Given the description of an element on the screen output the (x, y) to click on. 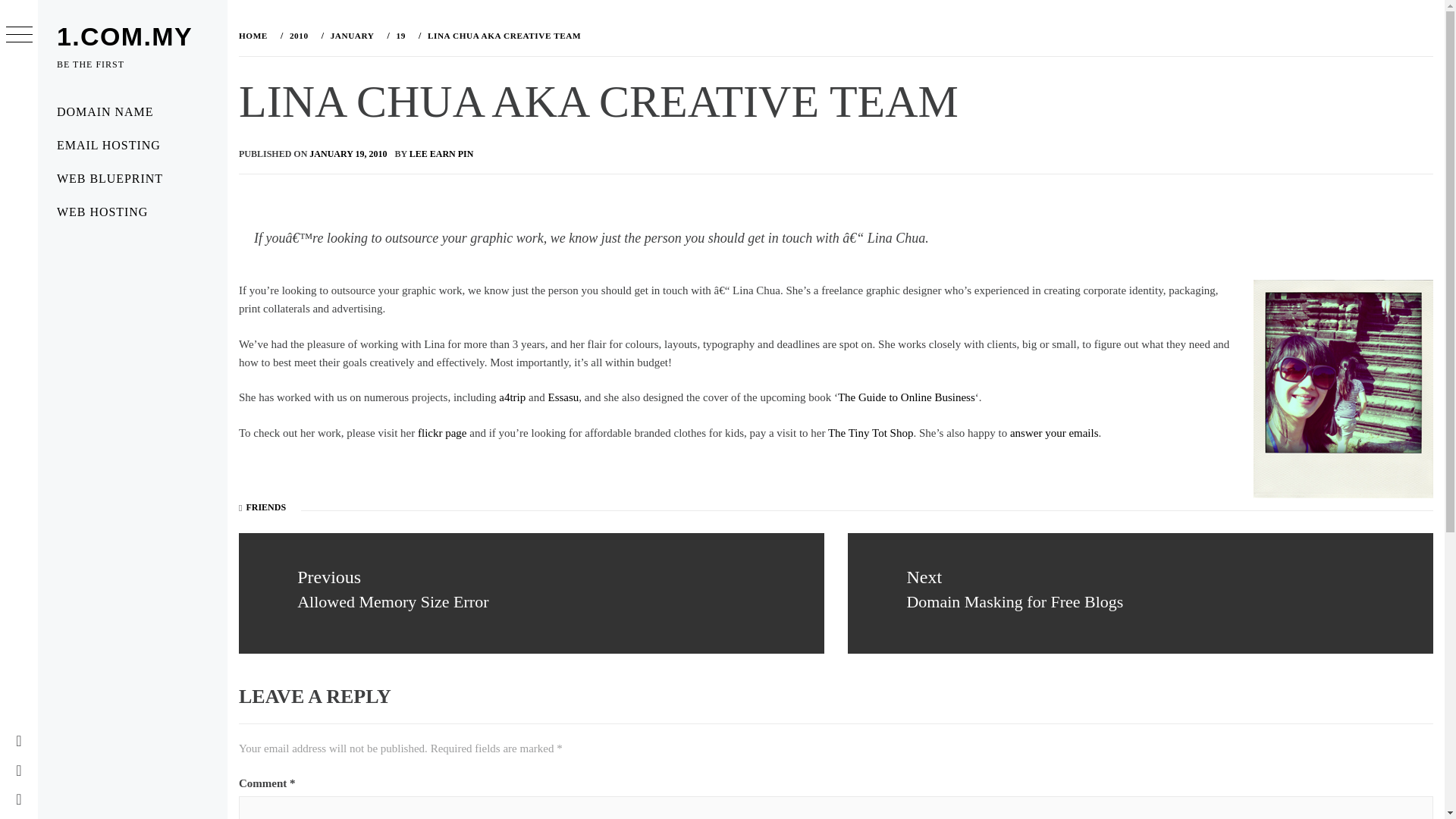
WEB BLUEPRINT (132, 178)
DOMAIN NAME (132, 111)
FRIENDS (265, 507)
EMAIL HOSTING (132, 145)
LEE EARN PIN (441, 153)
JANUARY 19, 2010 (347, 153)
Essasu (562, 397)
LINA CHUA AKA CREATIVE TEAM (502, 35)
Search (646, 37)
flickr page (442, 432)
WEB HOSTING (132, 212)
answer your emails (1054, 432)
19 (398, 35)
The Tiny Tot Shop (870, 432)
